Given the description of an element on the screen output the (x, y) to click on. 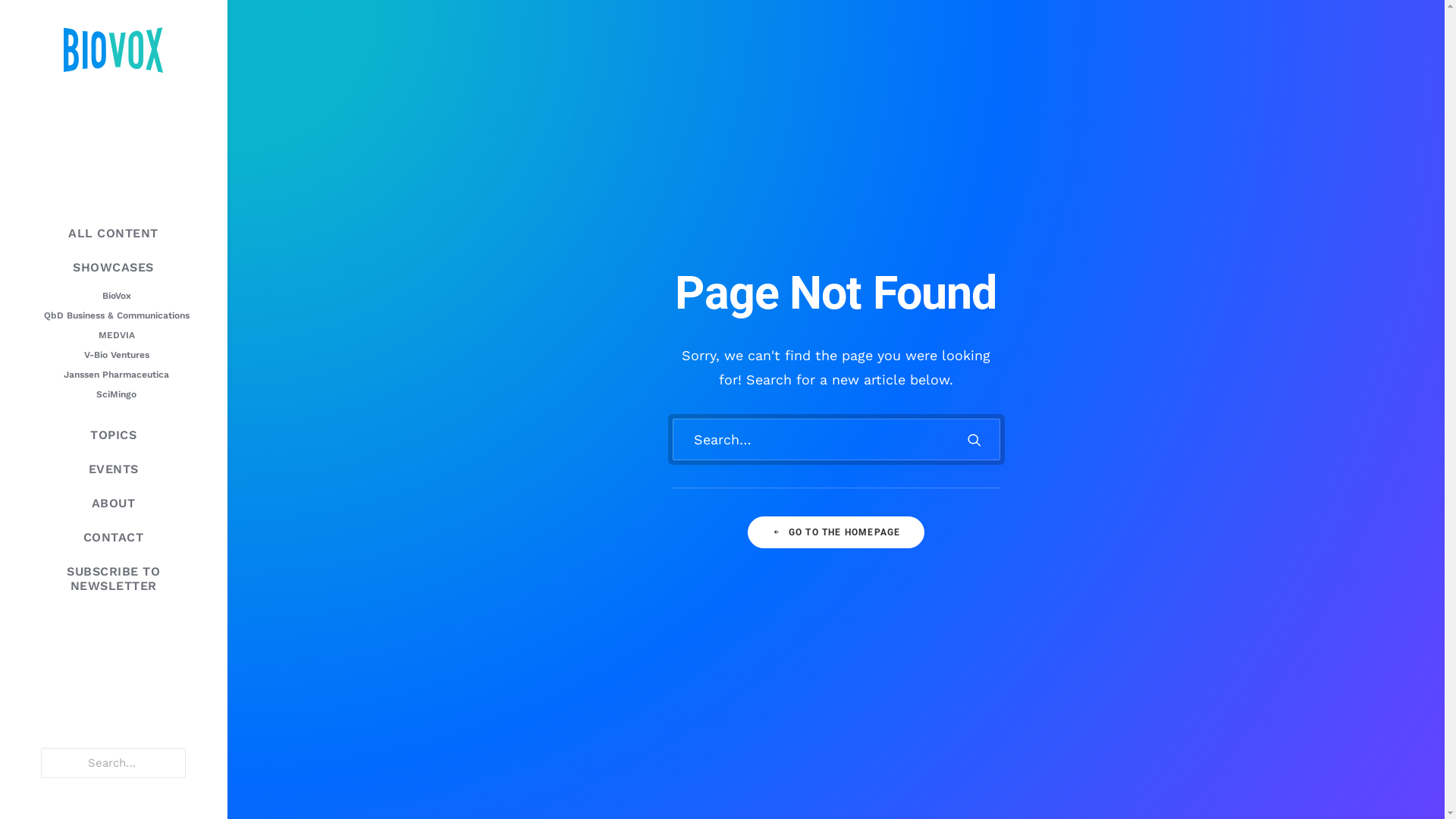
SUBSCRIBE TO NEWSLETTER Element type: text (113, 578)
EVENTS Element type: text (113, 469)
SciMingo Element type: text (116, 394)
GO TO THE HOMEPAGE Element type: text (836, 532)
MEDVIA Element type: text (116, 335)
V-Bio Ventures Element type: text (116, 354)
Search for: Element type: hover (835, 439)
QbD Business & Communications Element type: text (116, 315)
CONTACT Element type: text (113, 537)
TOPICS Element type: text (113, 434)
ALL CONTENT Element type: text (113, 233)
ABOUT Element type: text (113, 503)
SHOWCASES Element type: text (113, 267)
BioVox Element type: text (116, 295)
Janssen Pharmaceutica Element type: text (116, 374)
